Given the description of an element on the screen output the (x, y) to click on. 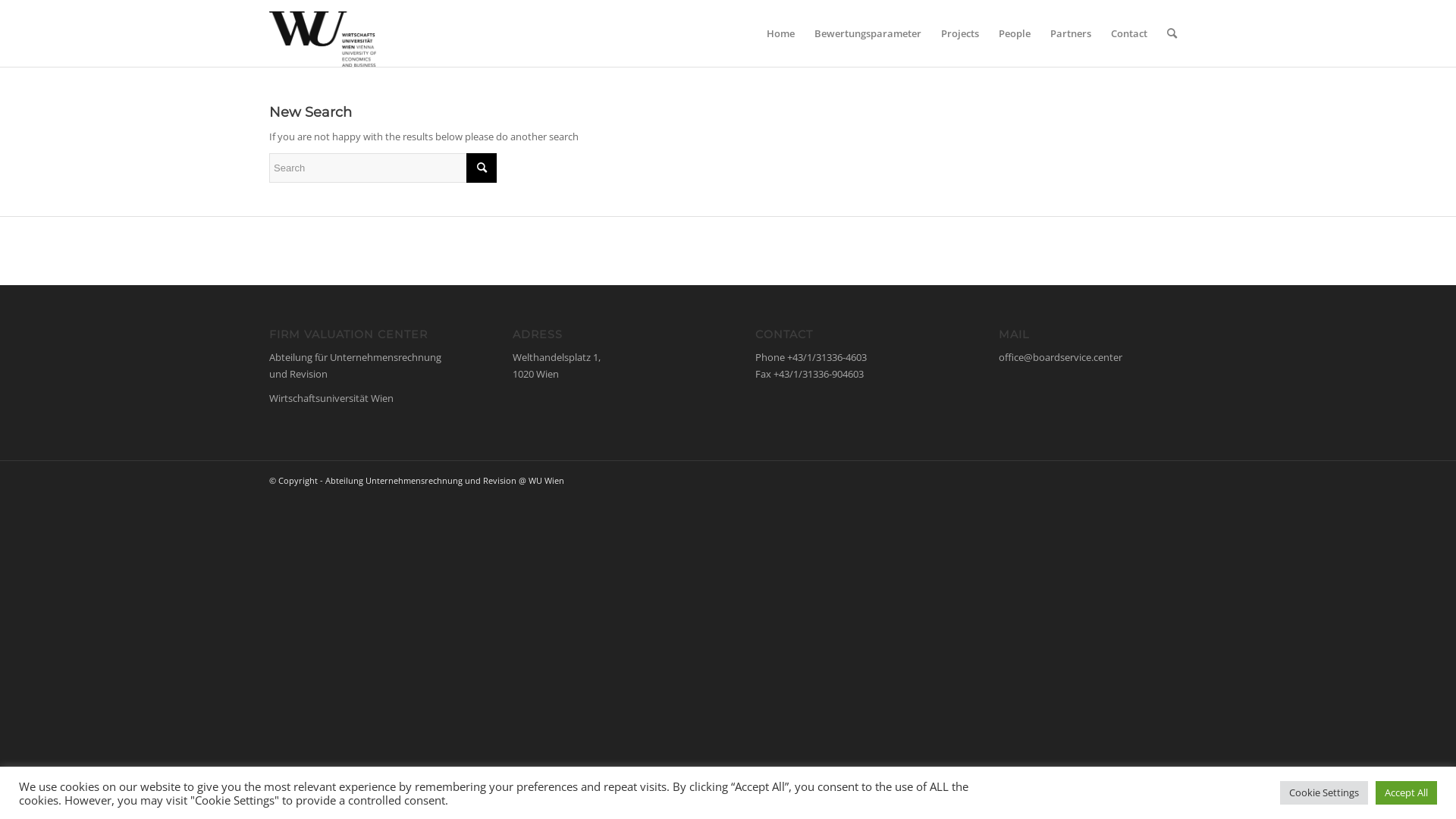
Bewertungsparameter Element type: text (867, 33)
Home Element type: text (780, 33)
Projects Element type: text (959, 33)
Accept All Element type: text (1406, 792)
Contact Element type: text (1129, 33)
Partners Element type: text (1070, 33)
Cookie Settings Element type: text (1324, 792)
office@boardservice.center Element type: text (1060, 357)
People Element type: text (1014, 33)
